Given the description of an element on the screen output the (x, y) to click on. 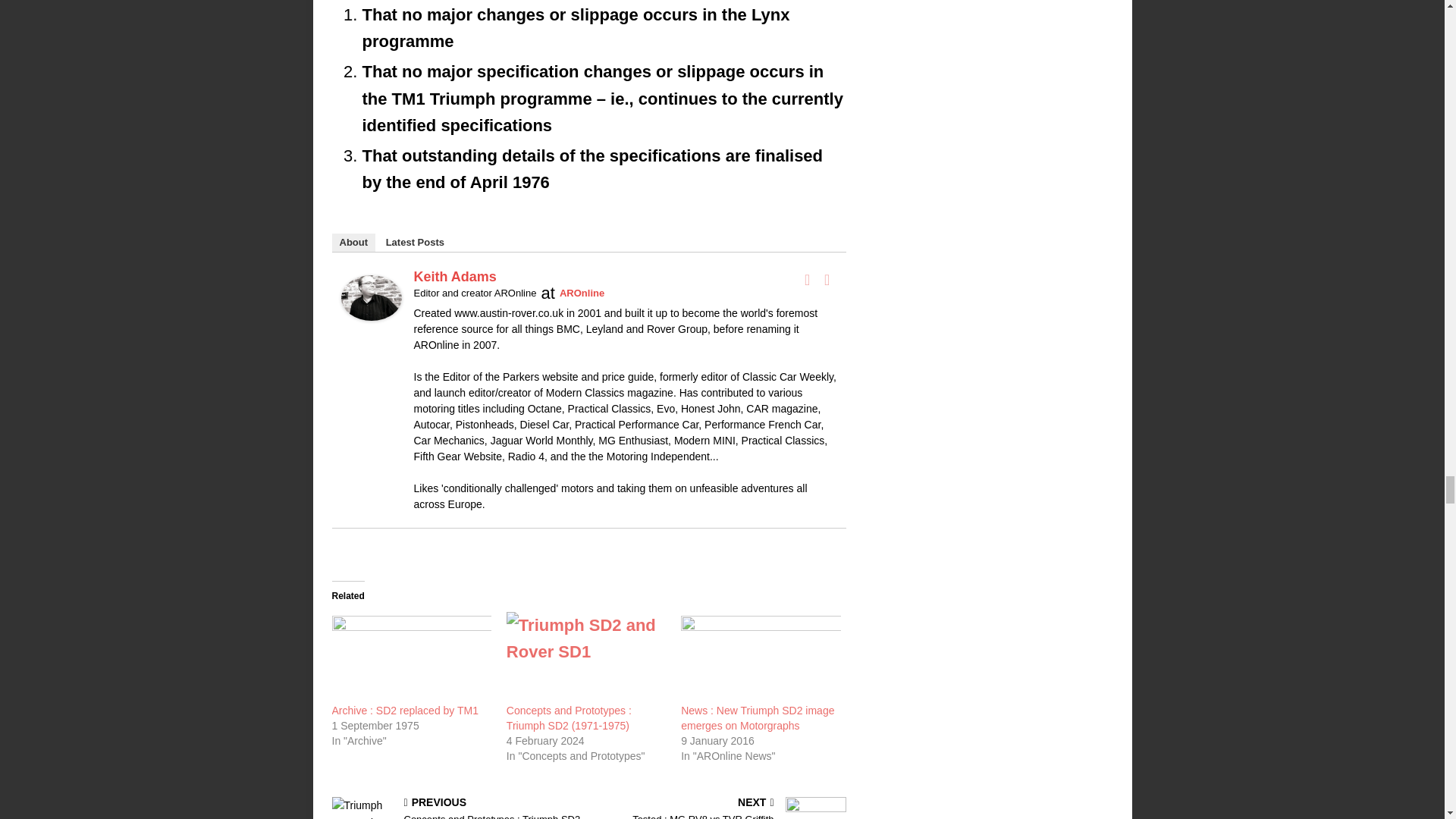
News : New Triumph SD2 image emerges on Motorgraphs (760, 656)
Keith Adams (370, 307)
Archive : SD2 replaced by TM1 (405, 710)
Twitter (826, 280)
Facebook (806, 280)
Archive : SD2 replaced by TM1 (411, 656)
